Given the description of an element on the screen output the (x, y) to click on. 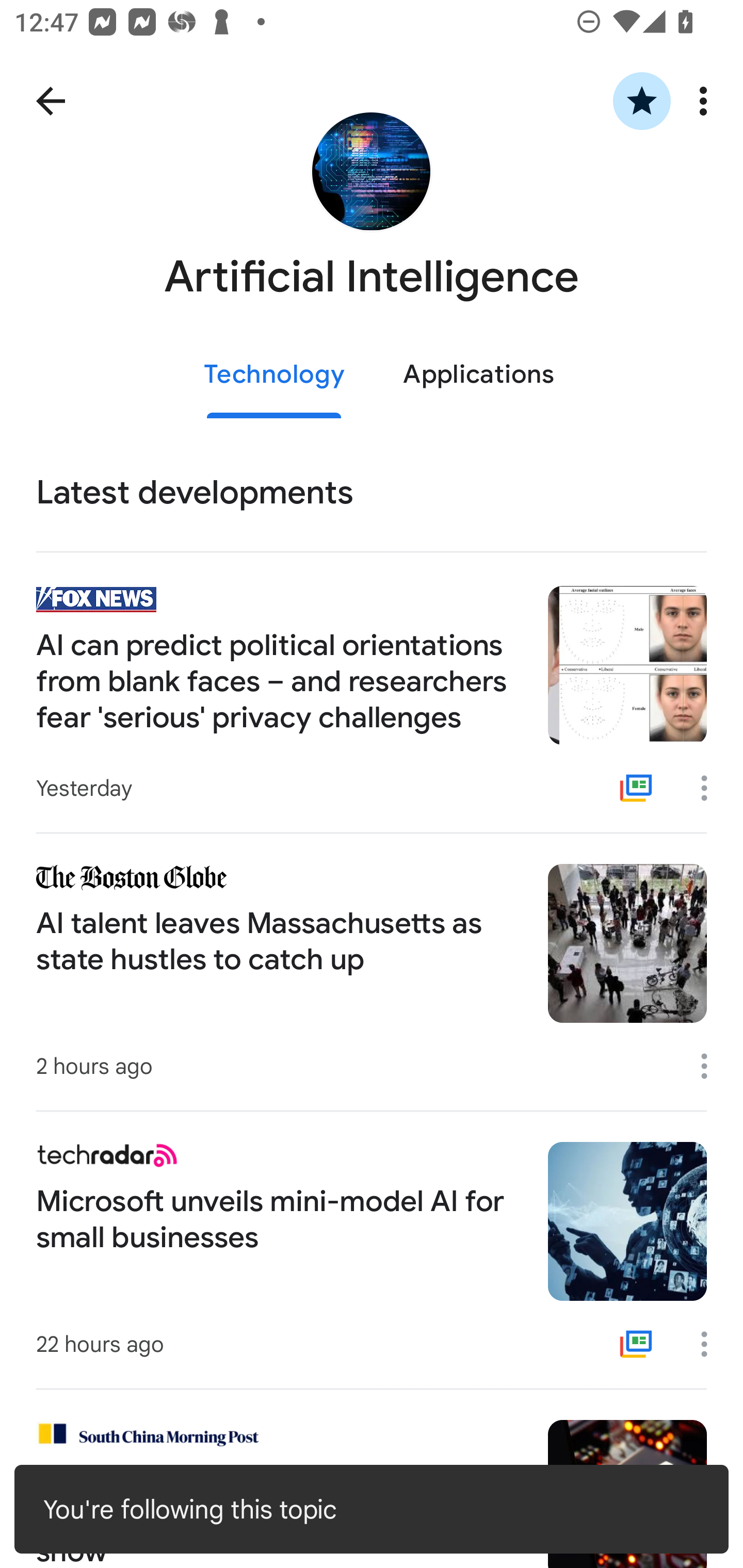
Navigate up (50, 101)
More options (706, 101)
Applications (478, 375)
Latest developments (371, 492)
More options (711, 787)
More options (711, 1066)
More options (711, 1344)
